Given the description of an element on the screen output the (x, y) to click on. 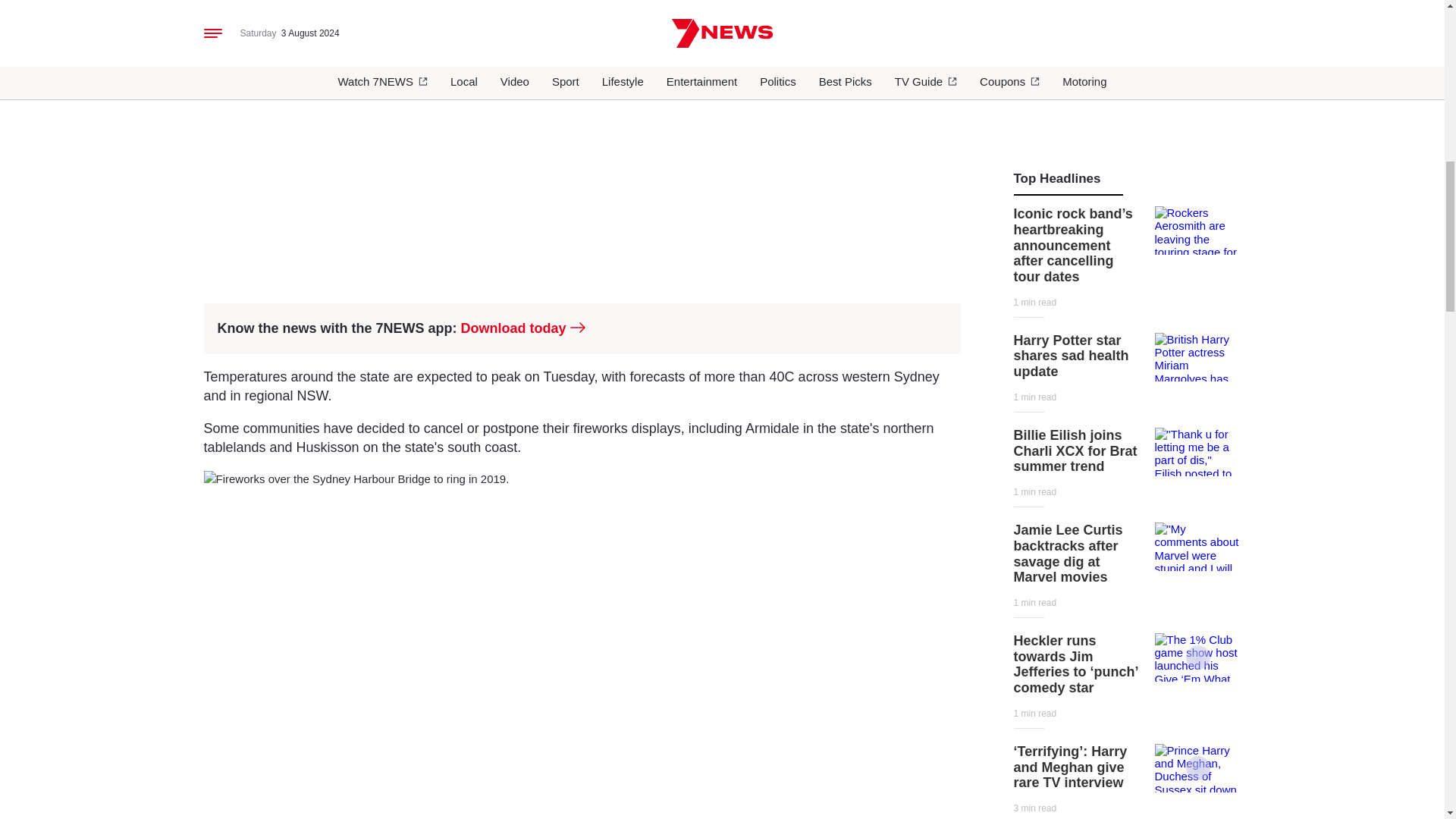
Video (1197, 767)
Video (1197, 657)
